Given the description of an element on the screen output the (x, y) to click on. 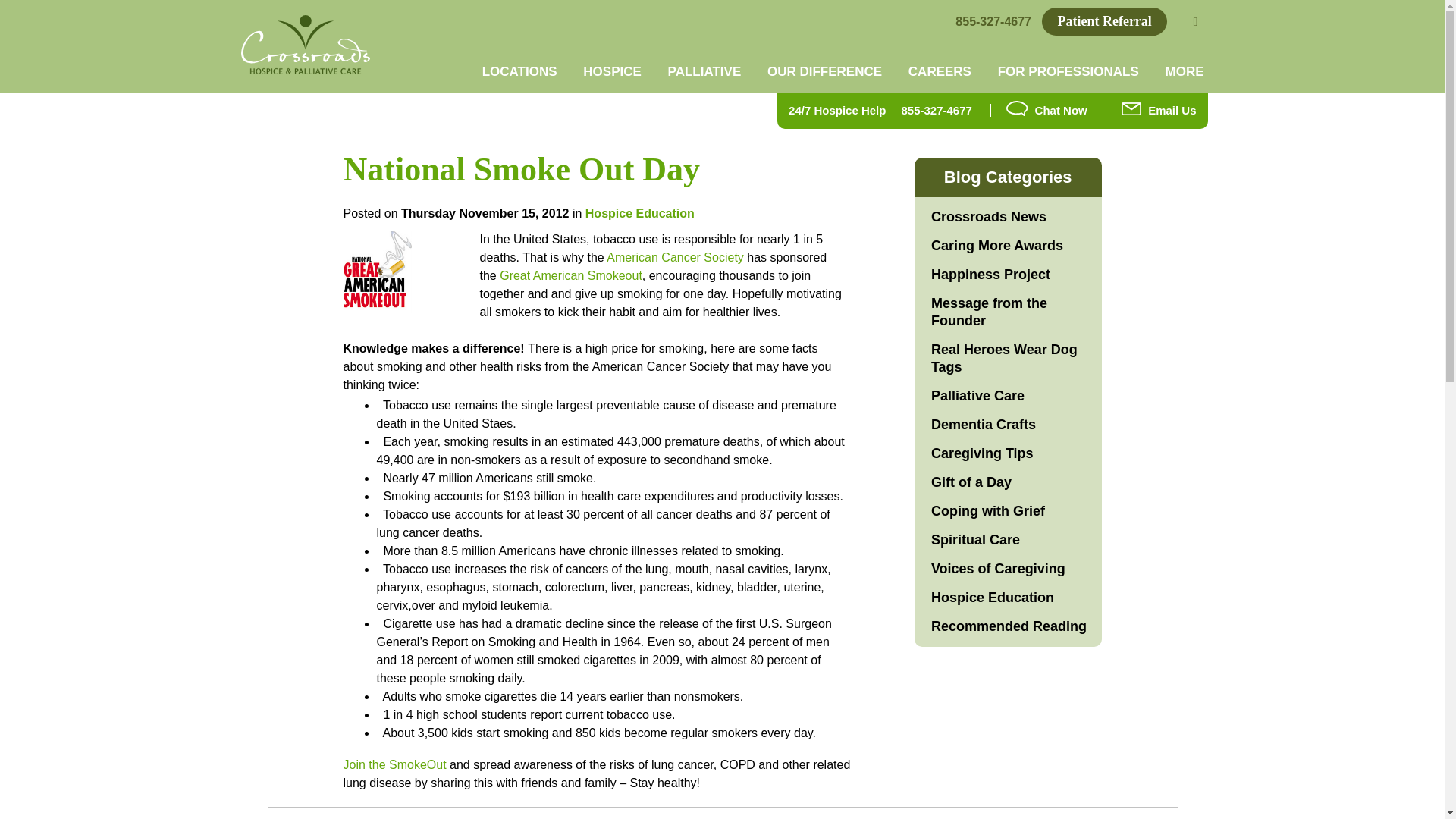
Recommended Reading (1008, 626)
Caregiving Tips (982, 453)
Spiritual Care (975, 539)
Gift of a Day (971, 482)
Patient Referral (1104, 21)
Hospice Education (639, 213)
Crossroads News (988, 216)
Palliative Care (978, 395)
Voices of Caregiving (998, 568)
Happiness Project (990, 273)
